Given the description of an element on the screen output the (x, y) to click on. 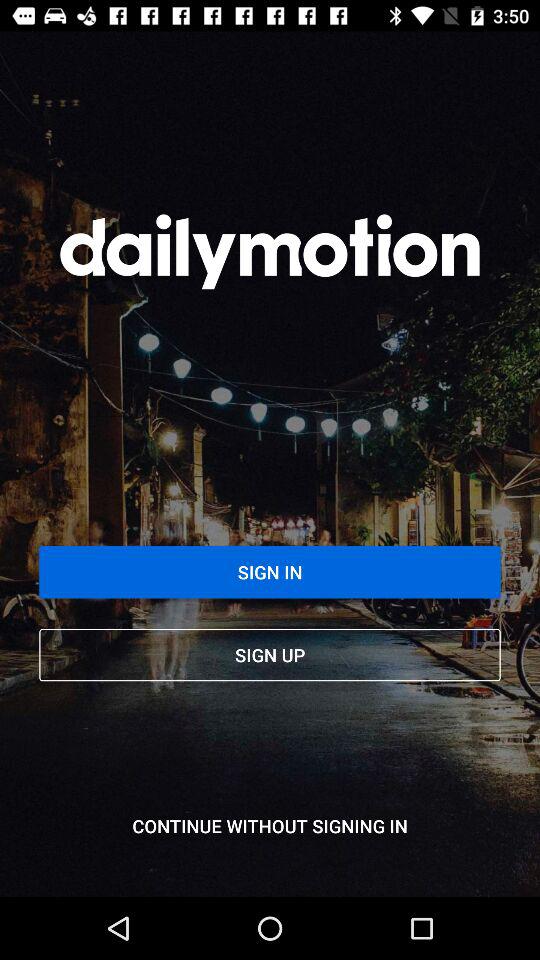
turn on the continue without signing item (269, 825)
